Given the description of an element on the screen output the (x, y) to click on. 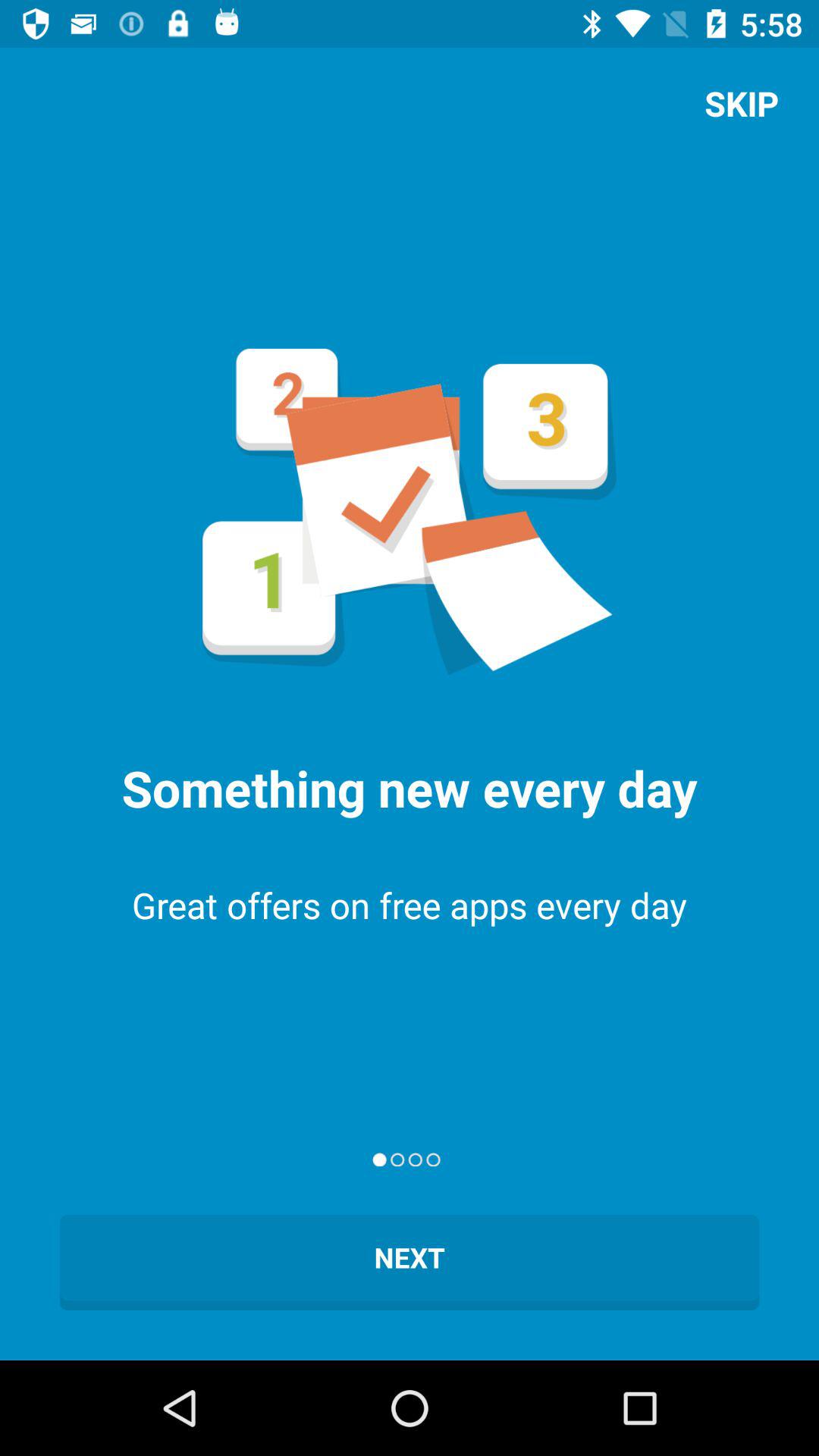
click the next item (409, 1262)
